Given the description of an element on the screen output the (x, y) to click on. 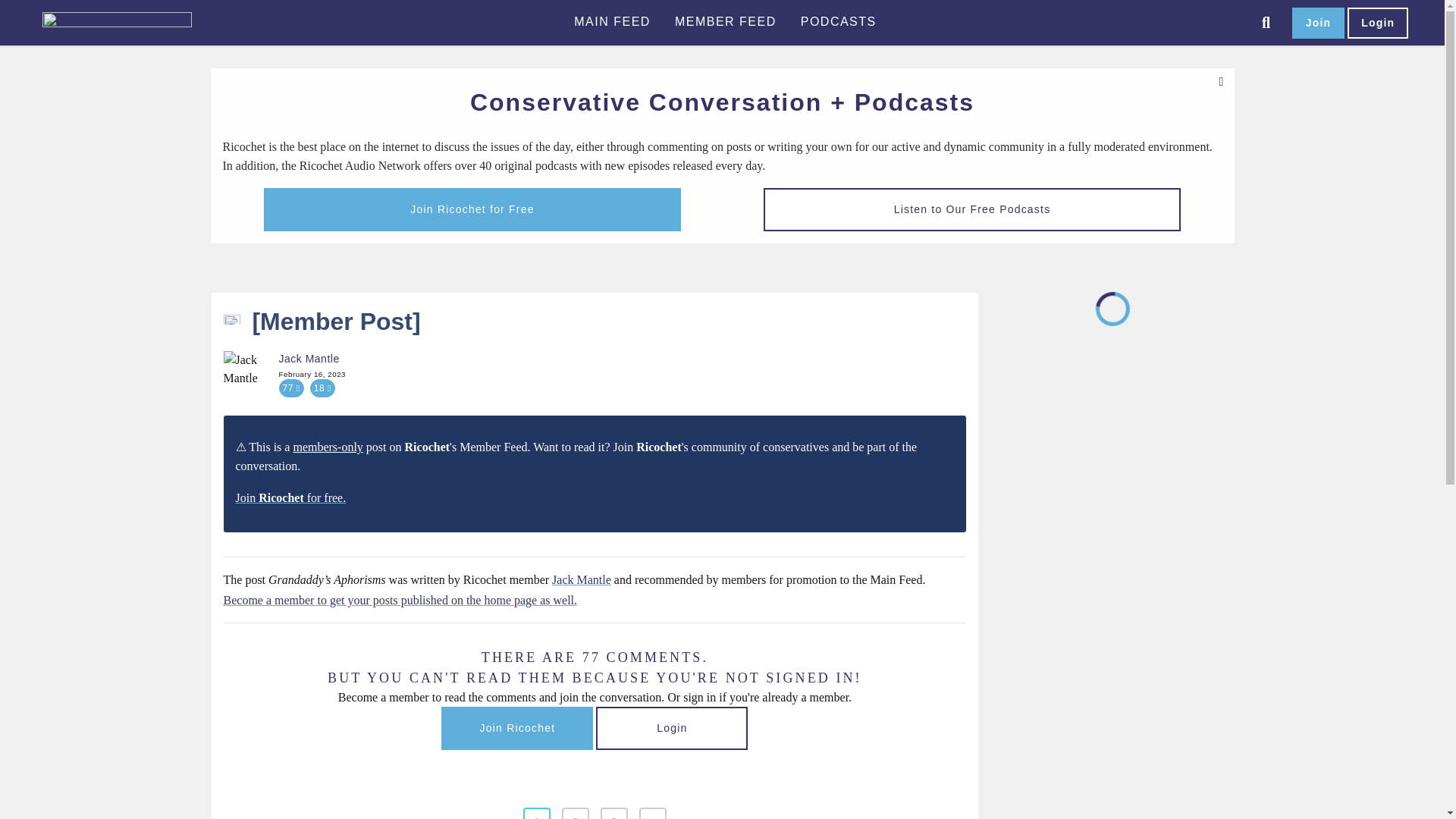
MAIN FEED (611, 22)
18 members are following this (322, 388)
Search (1266, 22)
Ricochet Home Page (141, 22)
PODCASTS (838, 22)
77 Comments (291, 388)
Jack Mantle (241, 370)
MEMBER FEED (725, 22)
